Given the description of an element on the screen output the (x, y) to click on. 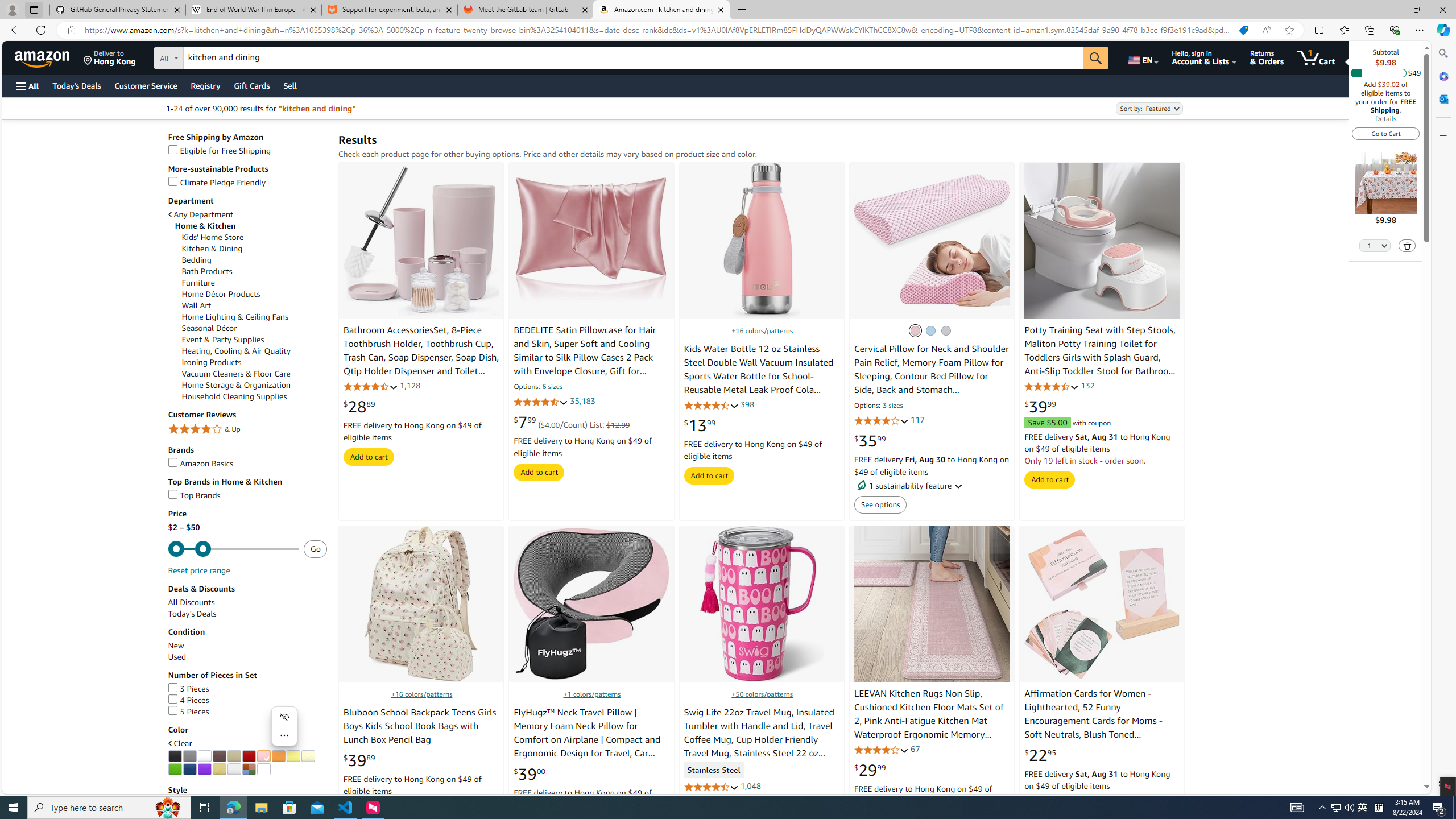
Blue (931, 330)
Heating, Cooling & Air Quality (254, 351)
Hello, sign in Account & Lists (1203, 57)
Climate Pledge Friendly (247, 182)
Amazon (43, 57)
Kids' Home Store (213, 237)
Pink (263, 756)
Eligible for Free Shipping (247, 150)
Blue (189, 769)
Go - Submit price range (315, 548)
+1 colors/patterns (592, 693)
AutomationID: p_n_feature_twenty_browse-bin/3254107011 (307, 756)
All Discounts (247, 602)
